Given the description of an element on the screen output the (x, y) to click on. 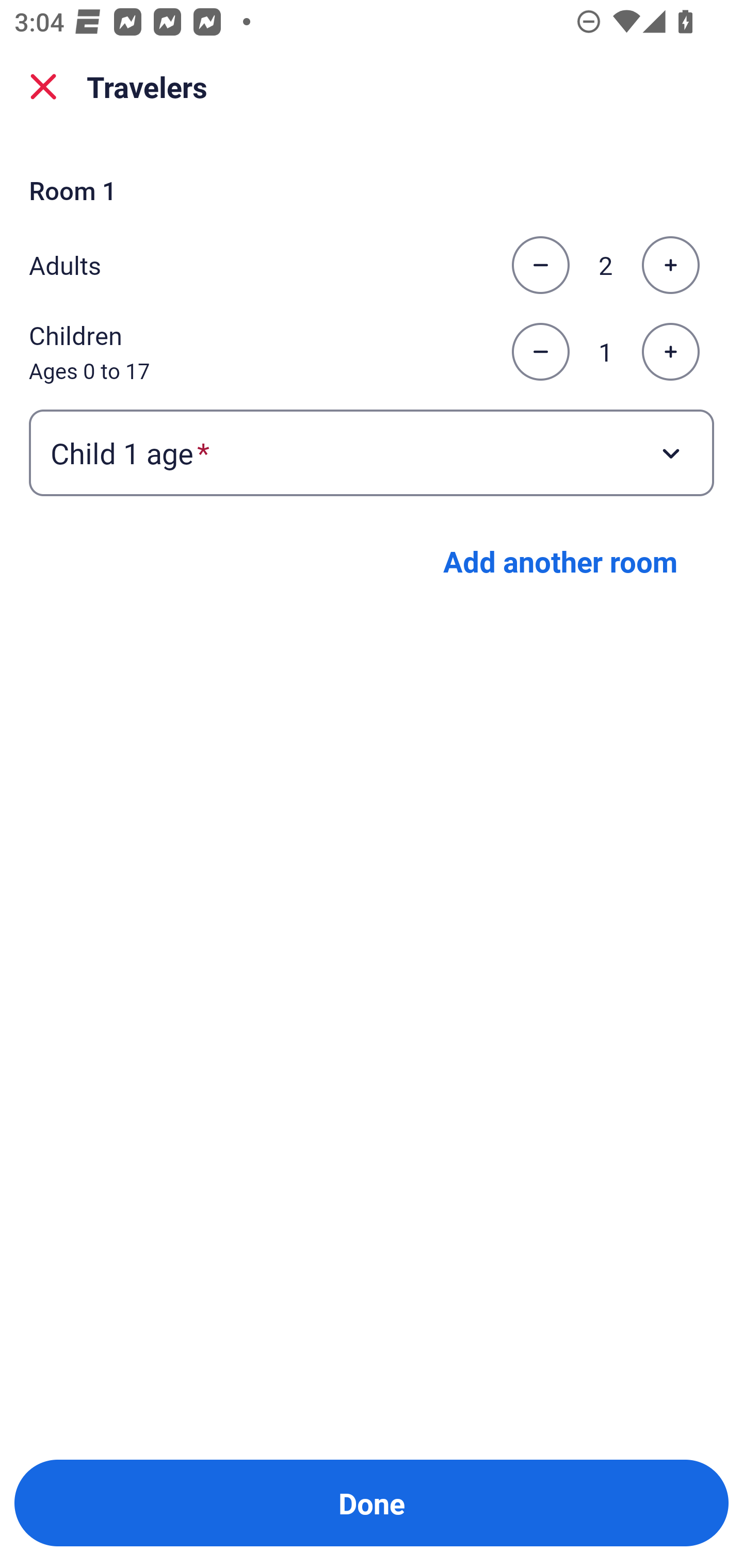
close (43, 86)
Decrease the number of adults (540, 264)
Increase the number of adults (670, 264)
Decrease the number of children (540, 351)
Increase the number of children (670, 351)
Child 1 age required Button (371, 452)
Add another room (560, 561)
Done (371, 1502)
